Given the description of an element on the screen output the (x, y) to click on. 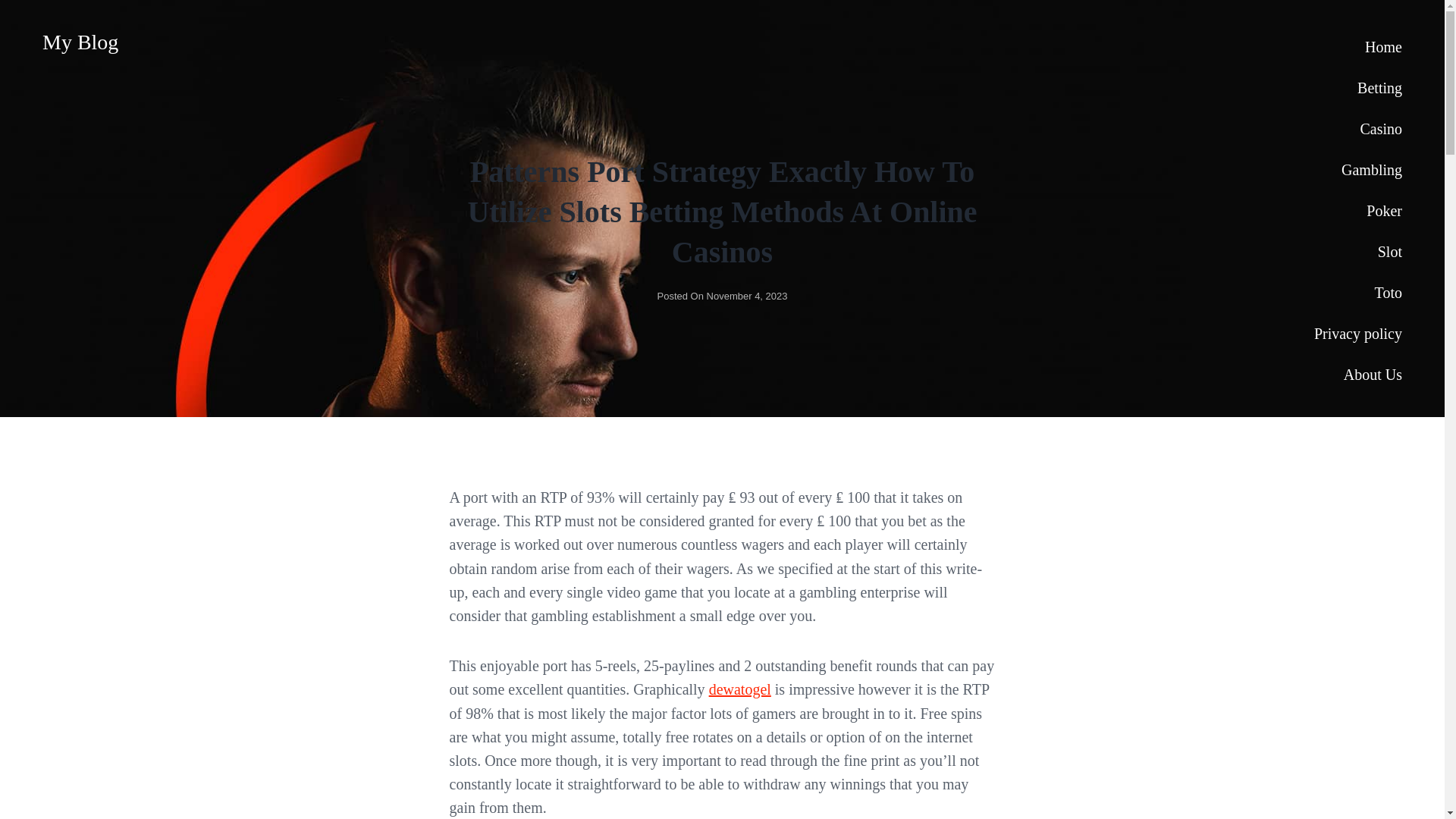
Privacy policy (1357, 332)
About Us (1357, 373)
dewatogel (740, 688)
My Blog (79, 42)
Poker (1357, 210)
Gambling (1357, 169)
Casino (1357, 128)
Posted On November 4, 2023 (721, 296)
Slot (1357, 250)
Betting (1357, 87)
